Given the description of an element on the screen output the (x, y) to click on. 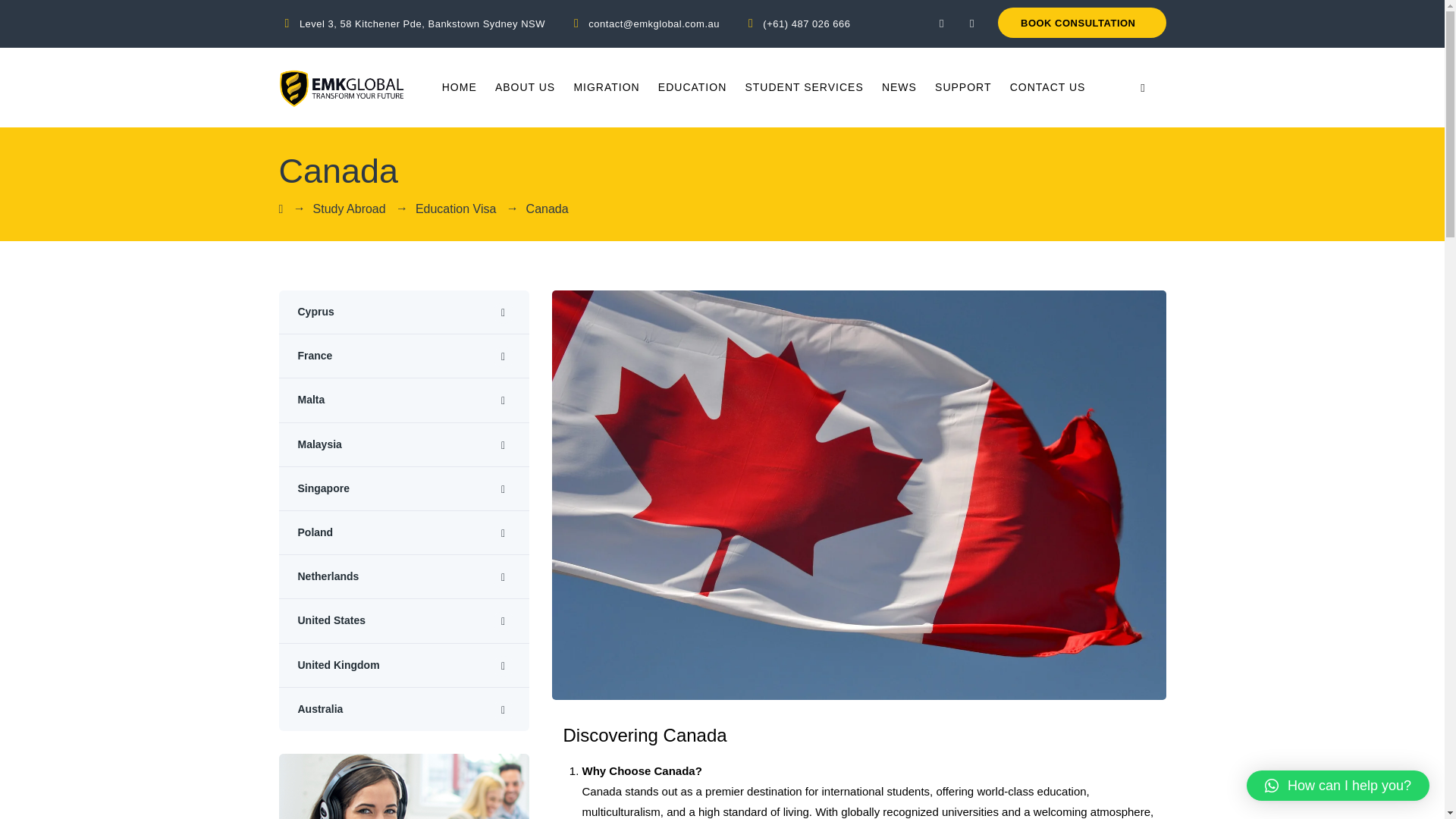
Go to Study Abroad. (349, 207)
EMK Global Australia (341, 87)
Go to the Education Visa Study Abroad Category archives. (455, 207)
BOOK CONSULTATION (1081, 23)
